Given the description of an element on the screen output the (x, y) to click on. 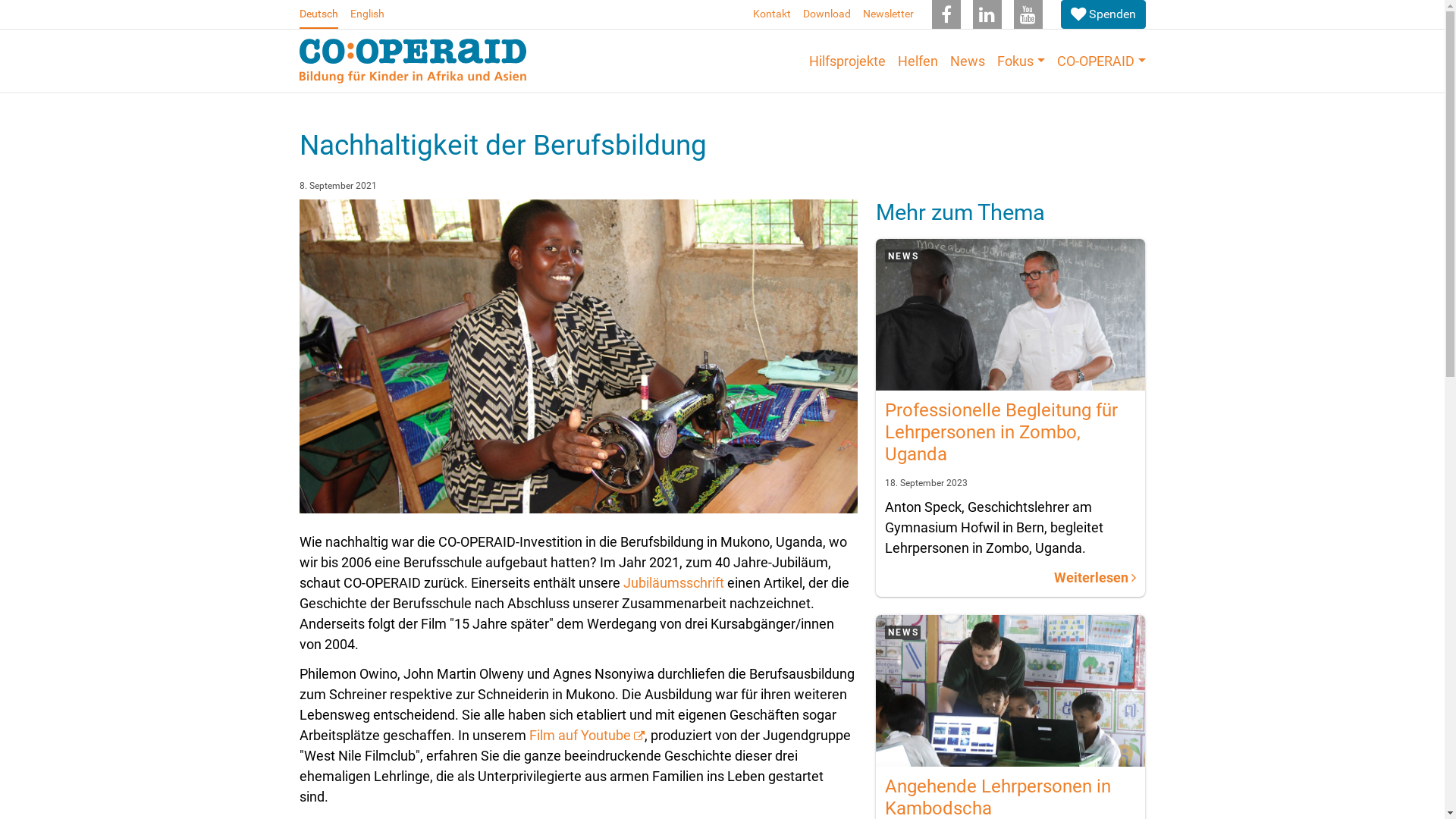
Youtube Element type: text (1027, 14)
News Element type: text (967, 60)
Direkt zum Inhalt Element type: text (0, 0)
Fokus Element type: text (1021, 60)
Facebook Element type: text (945, 14)
Startseite Element type: hover (412, 60)
Kontakt Element type: text (771, 14)
Studierende PH Luzern in Kambodscha Element type: hover (1010, 690)
LinkedIn Element type: text (986, 14)
Deutsch Element type: text (317, 14)
English Element type: text (367, 14)
Newsletter Element type: text (887, 14)
Lehrer Anton Speck in Uganda Element type: hover (1010, 314)
Download Element type: text (826, 14)
Film auf Youtube Element type: text (586, 735)
Hilfsprojekte Element type: text (847, 60)
Berufsbildung in Uganda Element type: hover (577, 356)
CO-OPERAID Element type: text (1101, 60)
Helfen Element type: text (917, 60)
Spenden Element type: text (1102, 14)
